Given the description of an element on the screen output the (x, y) to click on. 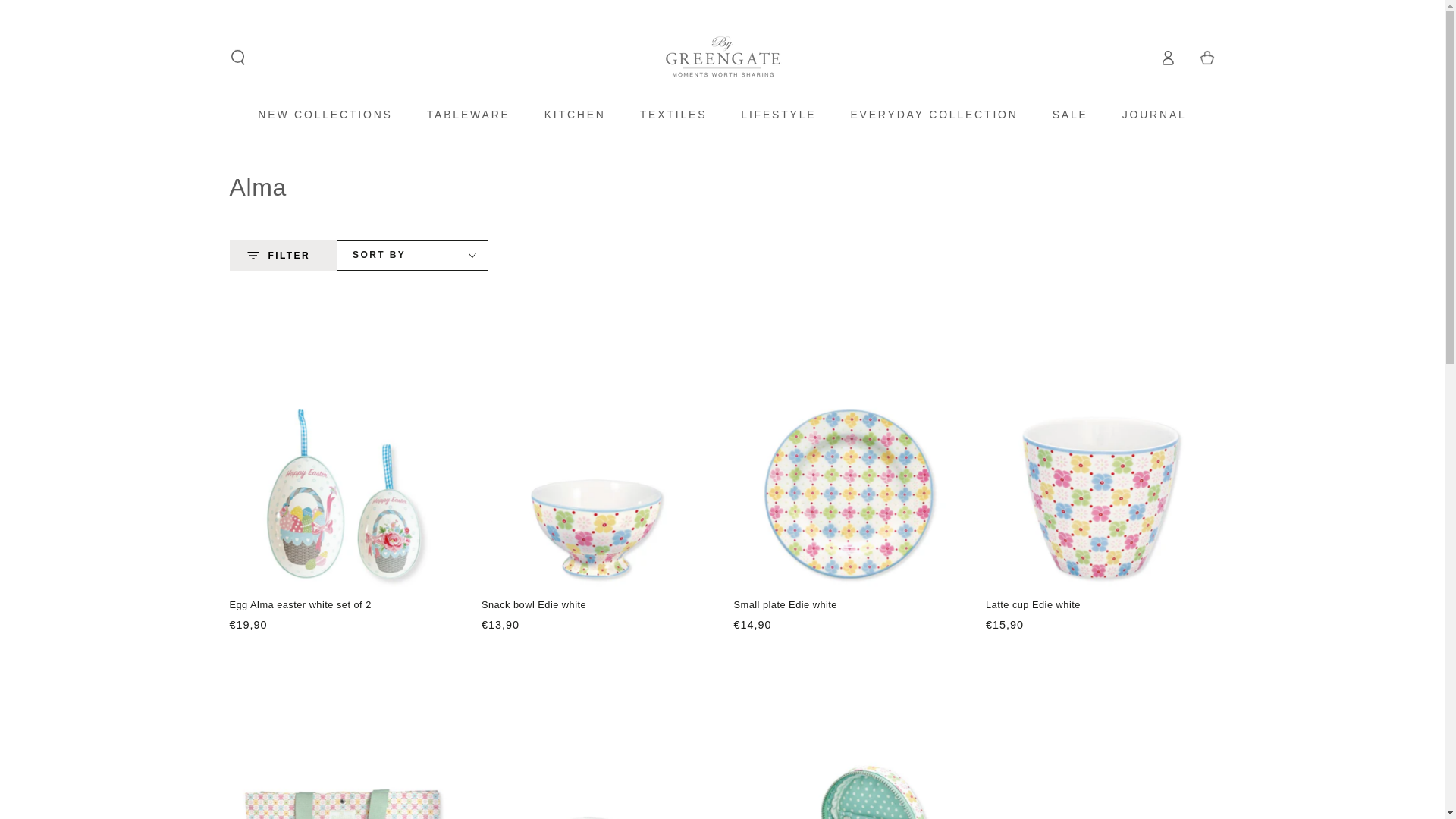
SKIP TO CONTENT (67, 14)
